Given the description of an element on the screen output the (x, y) to click on. 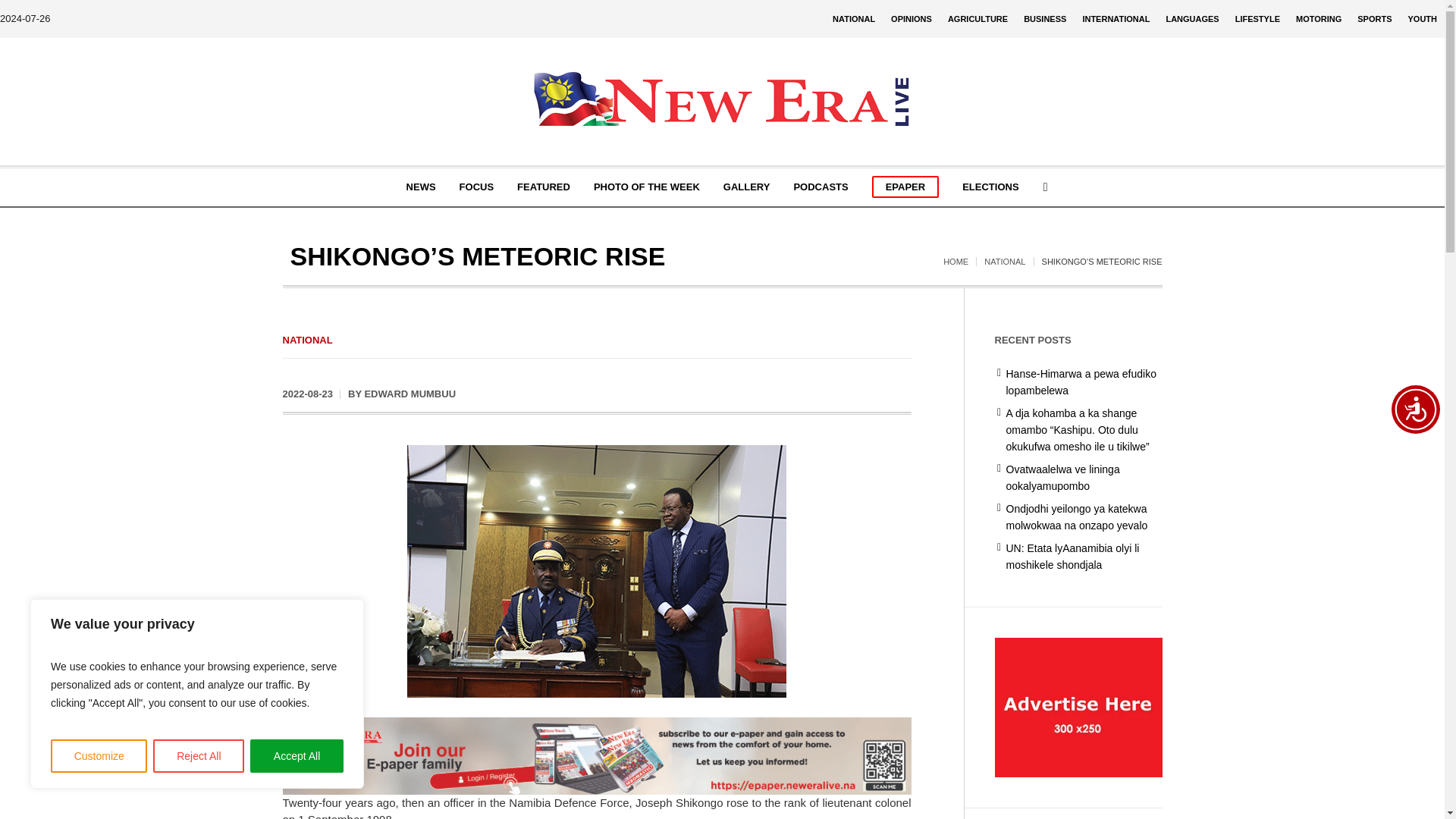
AGRICULTURE (977, 18)
NEWS (420, 187)
BUSINESS (1045, 18)
SPORTS (1374, 18)
Customize (98, 756)
Posts by Edward Mumbuu (409, 393)
MOTORING (1318, 18)
LANGUAGES (1191, 18)
Accessibility Menu (1415, 409)
INTERNATIONAL (1115, 18)
NATIONAL (853, 18)
shikongo 2 (596, 571)
2022-08-23 (307, 394)
Accept All (296, 756)
OPINIONS (911, 18)
